Given the description of an element on the screen output the (x, y) to click on. 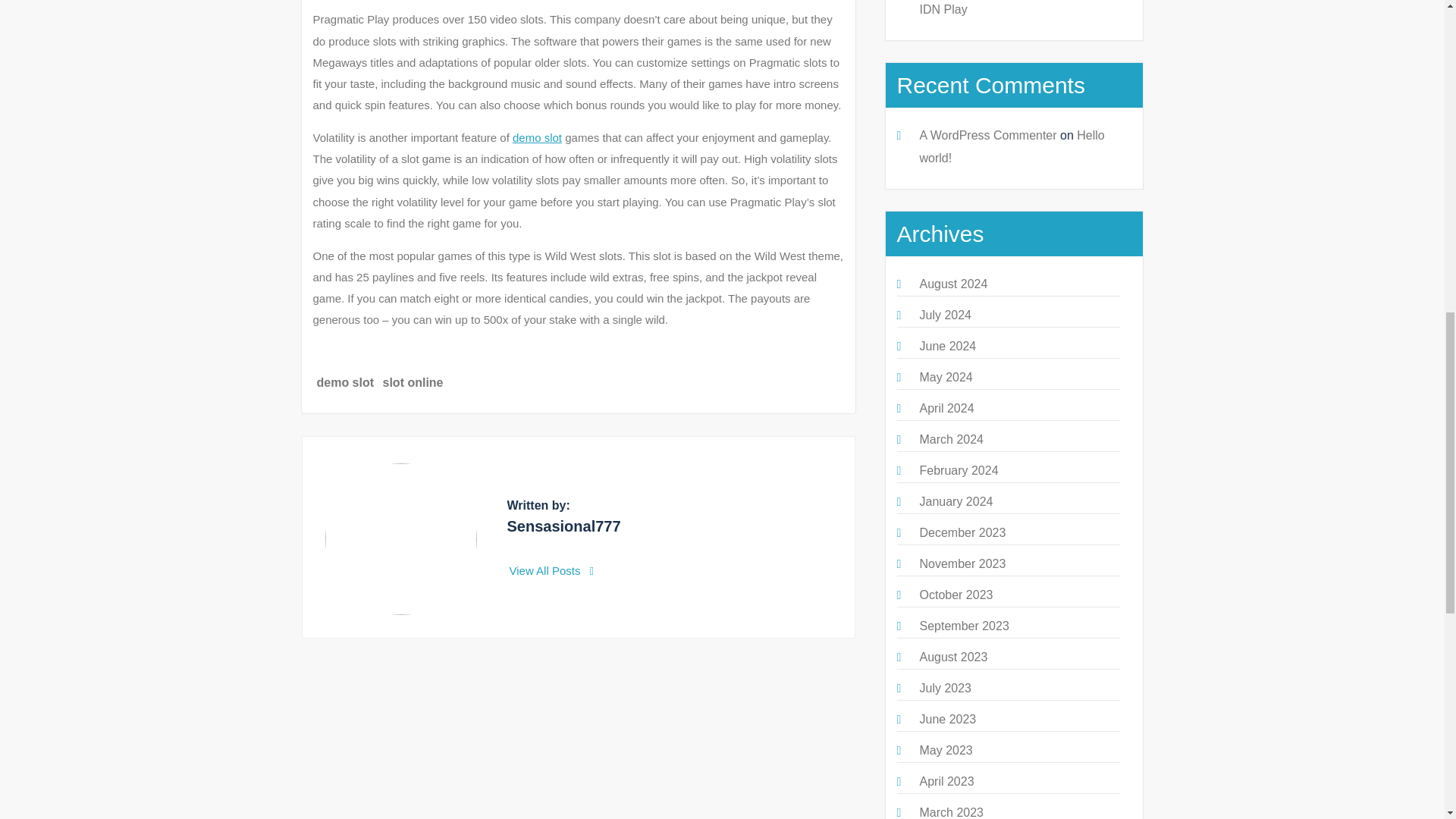
Cara Mendapatkan Bonus di Agen IDN Play (1010, 7)
January 2024 (955, 501)
demo slot (537, 137)
demo slot (345, 382)
August 2024 (952, 283)
July 2024 (944, 314)
July 2023 (944, 687)
February 2024 (957, 470)
August 2023 (952, 656)
View All Posts (551, 570)
